Given the description of an element on the screen output the (x, y) to click on. 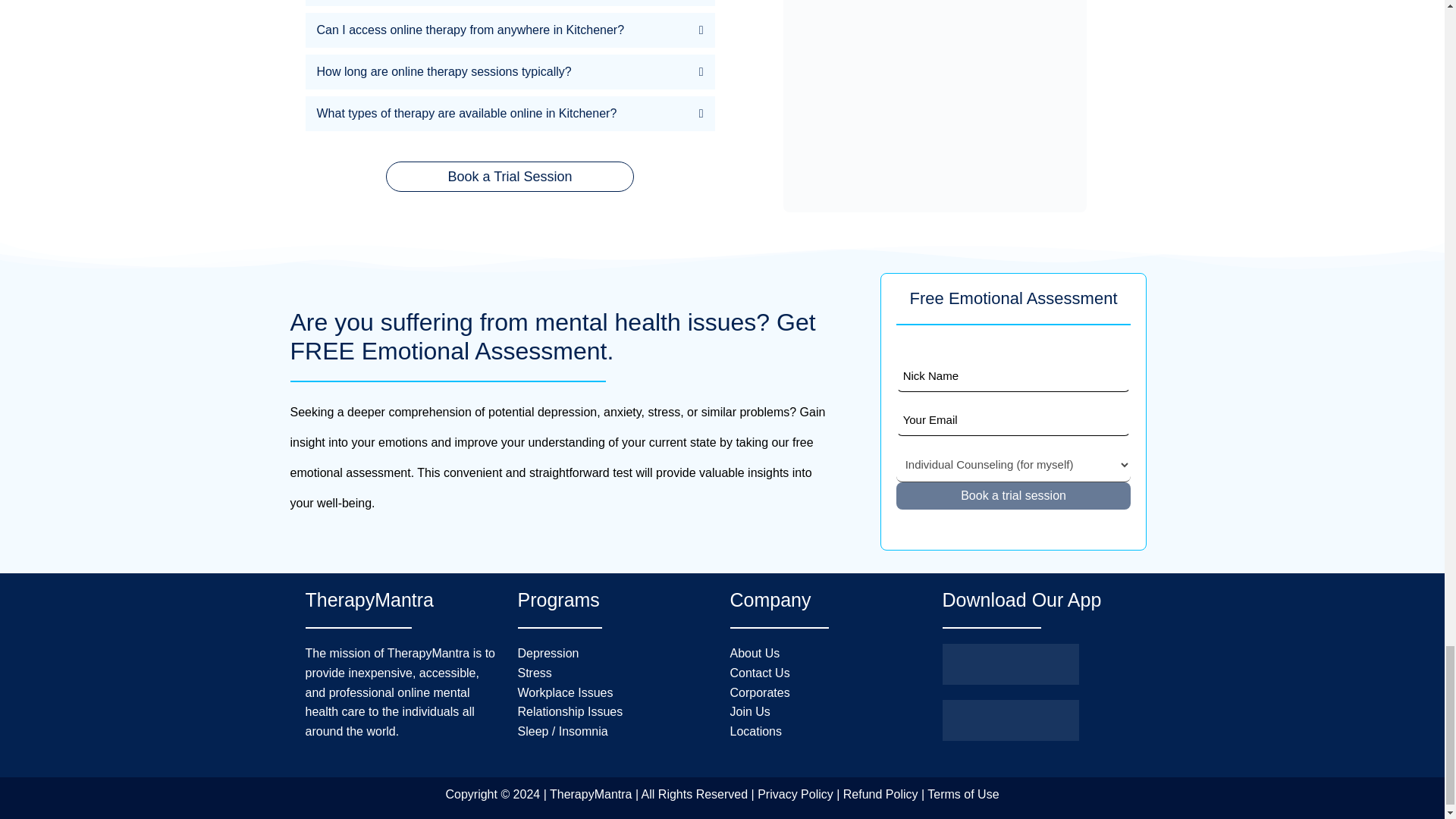
Book a trial session (1013, 495)
